Given the description of an element on the screen output the (x, y) to click on. 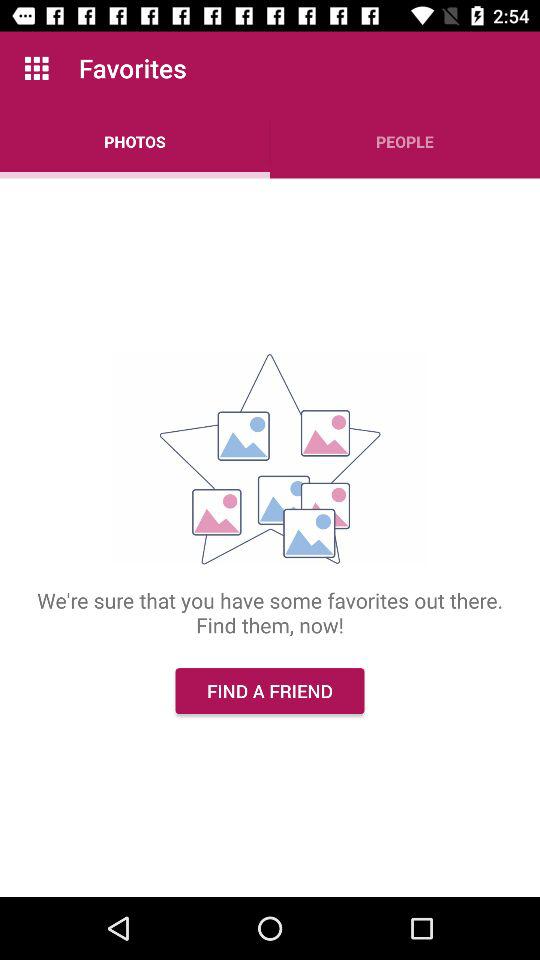
launch the find a friend icon (269, 690)
